Given the description of an element on the screen output the (x, y) to click on. 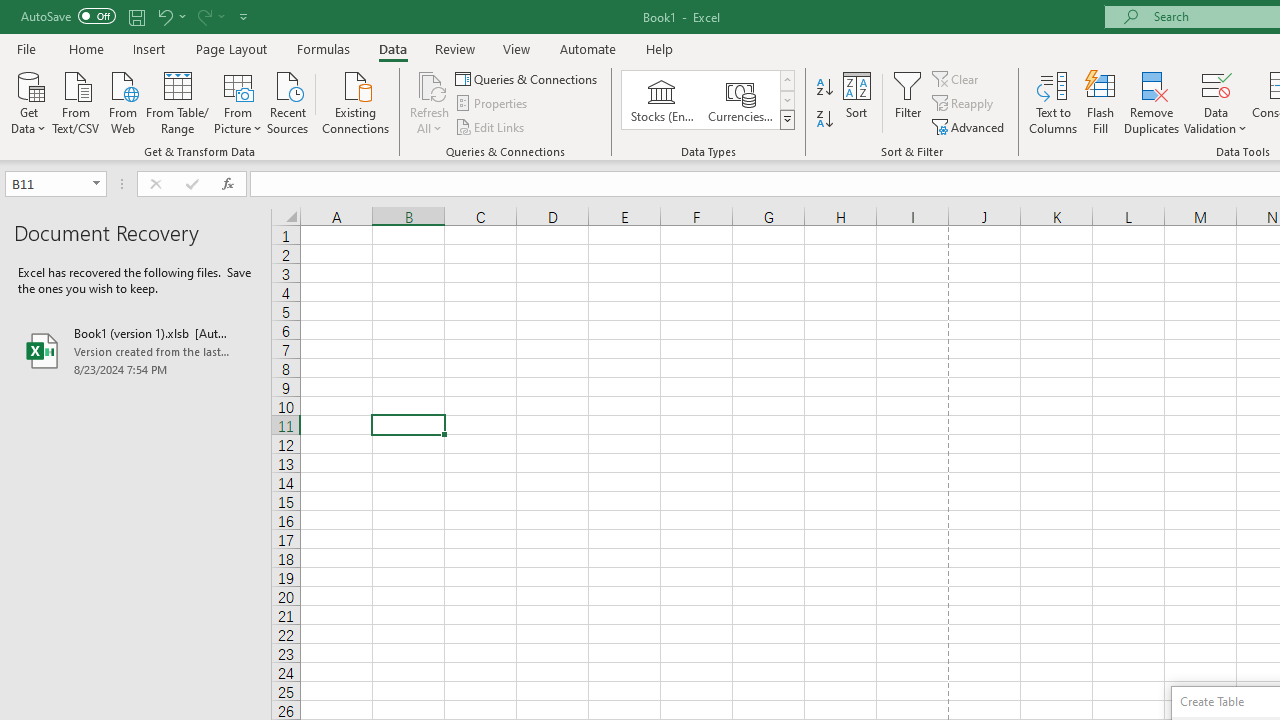
Flash Fill (1101, 102)
From Text/CSV (75, 101)
Stocks (English) (662, 100)
Existing Connections (355, 101)
AutomationID: ConvertToLinkedEntity (708, 99)
